Given the description of an element on the screen output the (x, y) to click on. 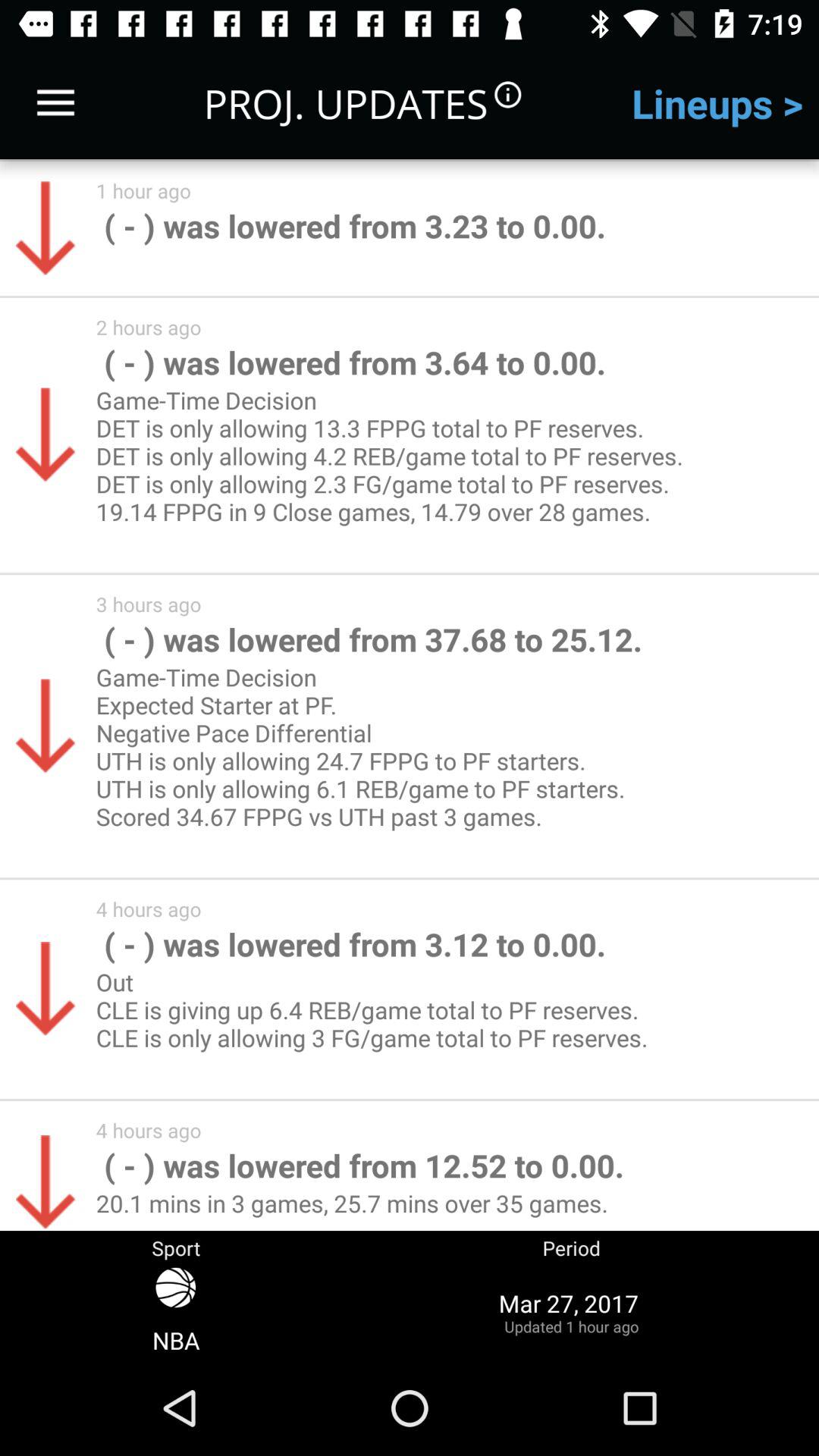
jump to out cle is (378, 1023)
